Given the description of an element on the screen output the (x, y) to click on. 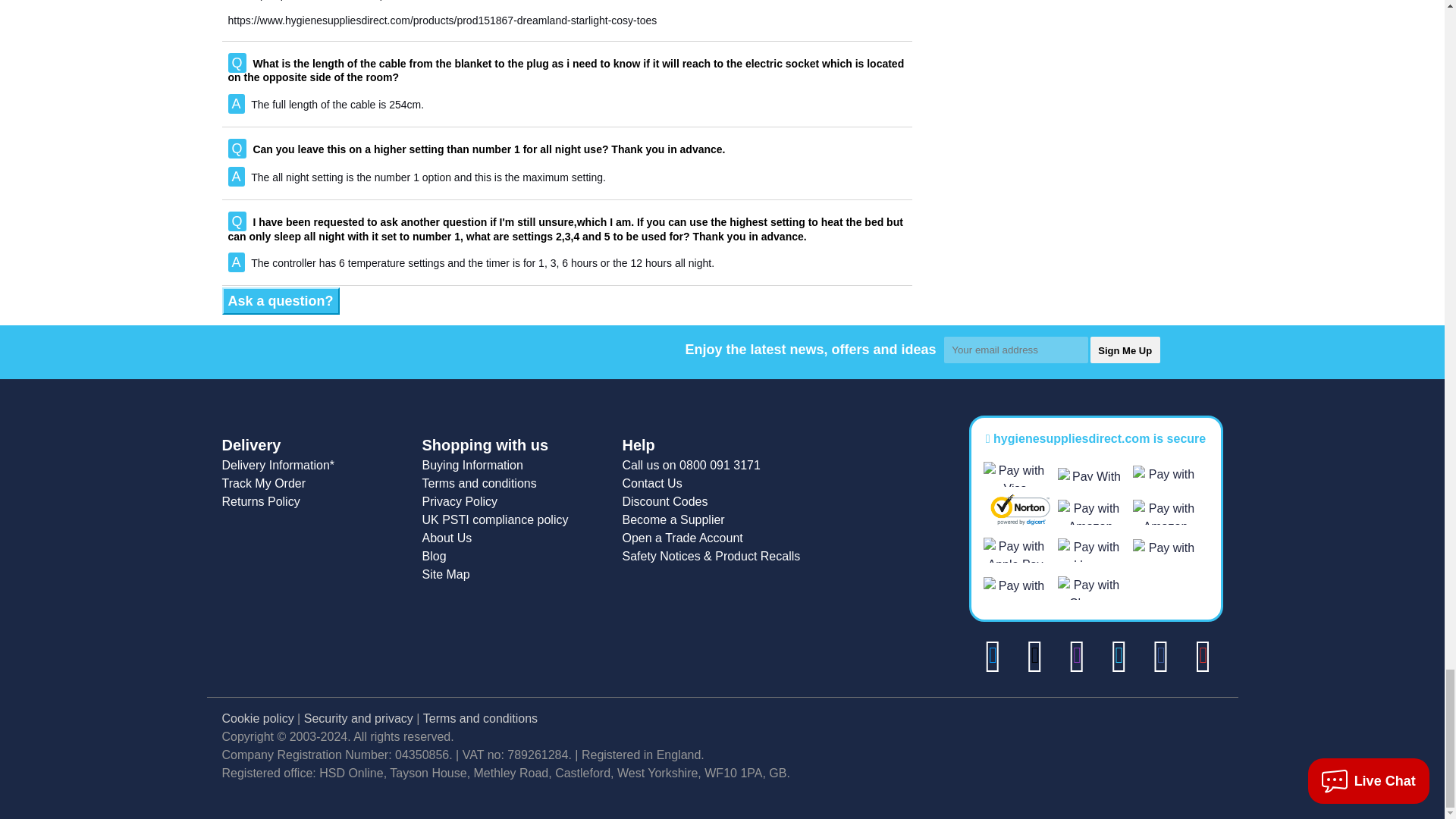
Sign Me Up (1125, 349)
